Given the description of an element on the screen output the (x, y) to click on. 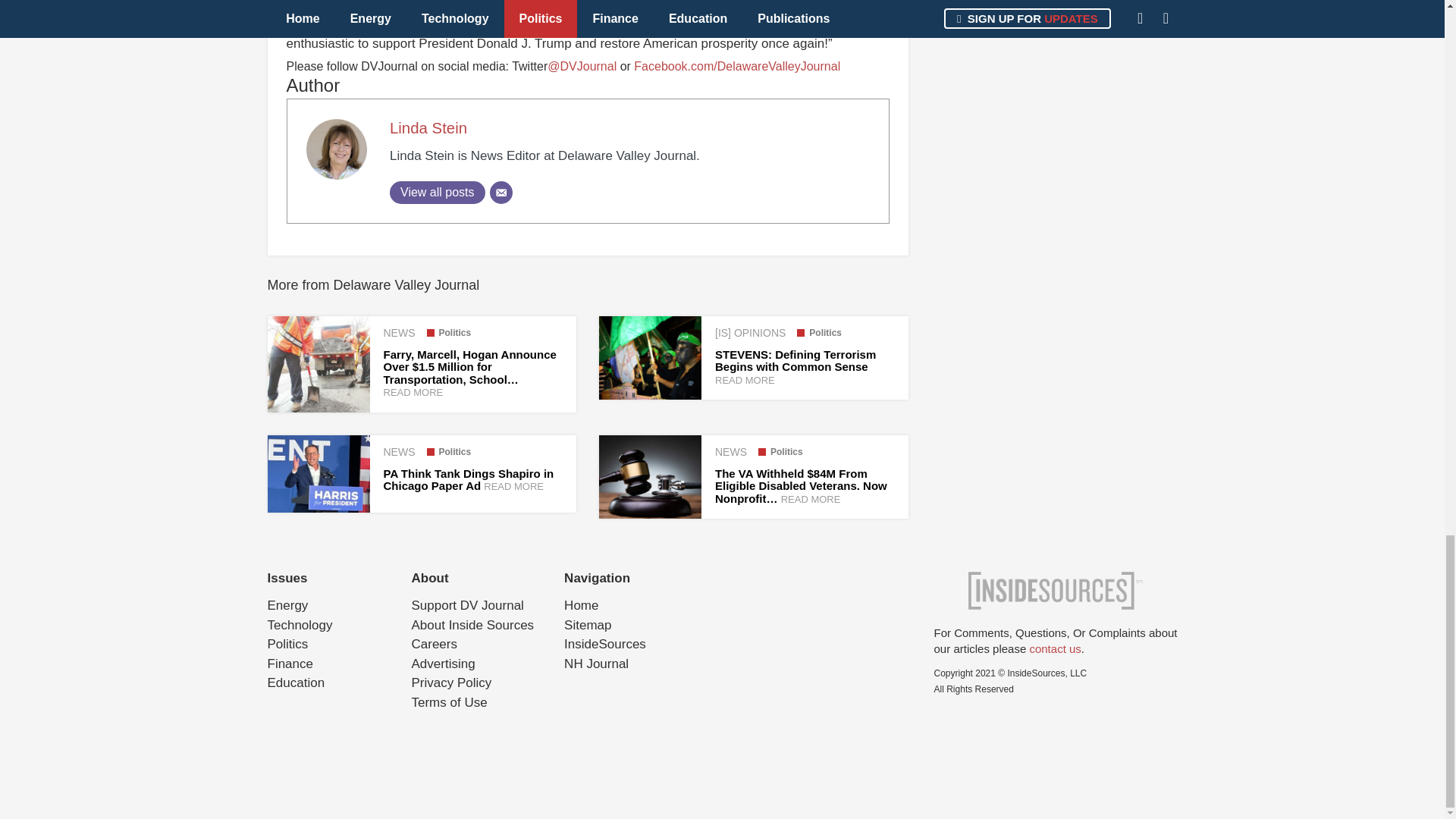
Politics (818, 332)
View all posts in Politics (448, 332)
Politics (780, 451)
PA Think Tank Dings Shapiro in Chicago Paper Ad READ MORE (469, 479)
Linda Stein (428, 127)
View all posts in Politics (818, 332)
View all posts (437, 191)
View all posts (437, 191)
Linda Stein (428, 127)
